Given the description of an element on the screen output the (x, y) to click on. 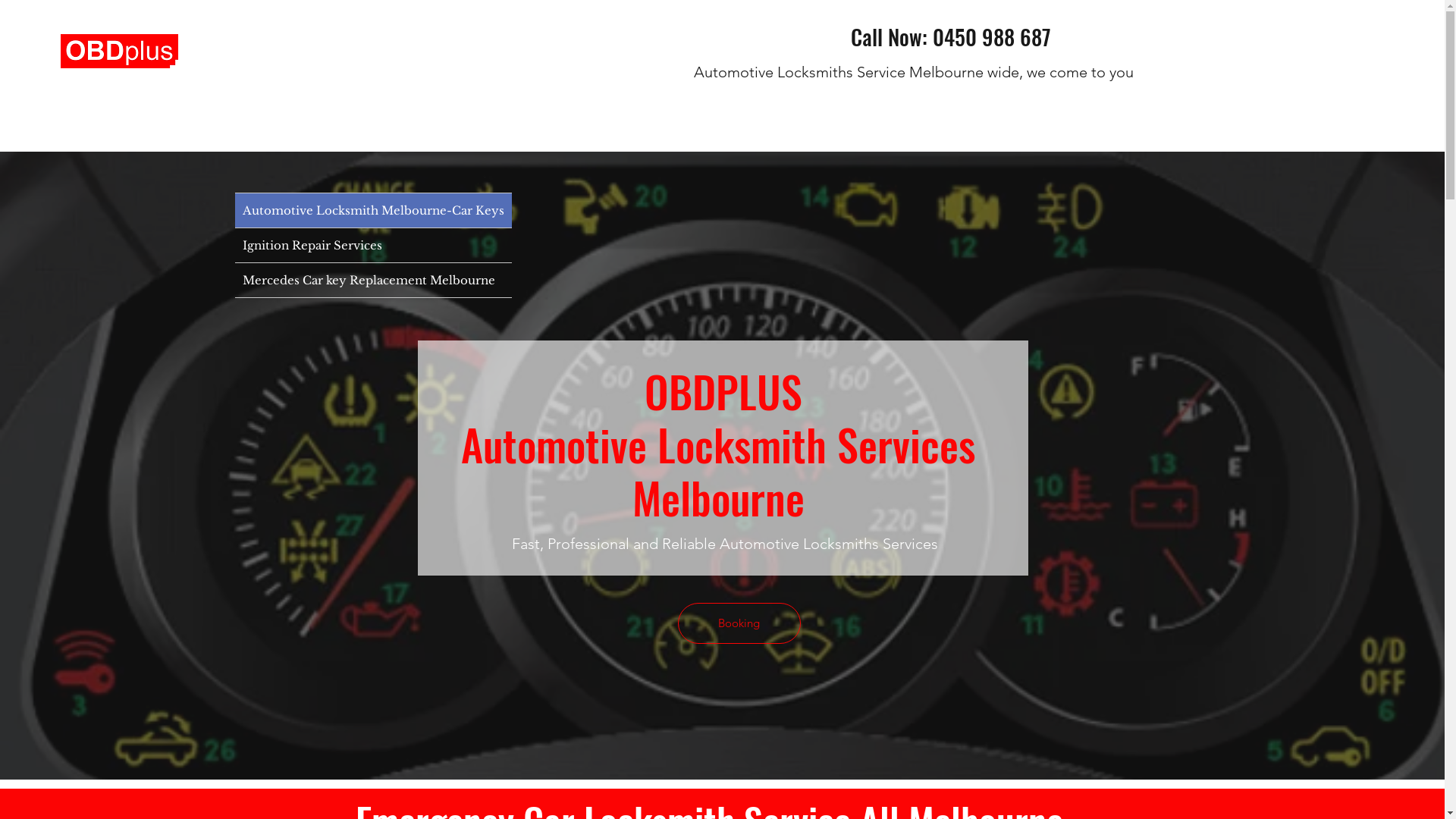
Ignition Repair Services Element type: text (373, 245)
Automotive Locksmith Melbourne-Car Keys Element type: text (373, 210)
Mercedes Car key Replacement Melbourne Element type: text (373, 280)
Booking Element type: text (738, 622)
